Given the description of an element on the screen output the (x, y) to click on. 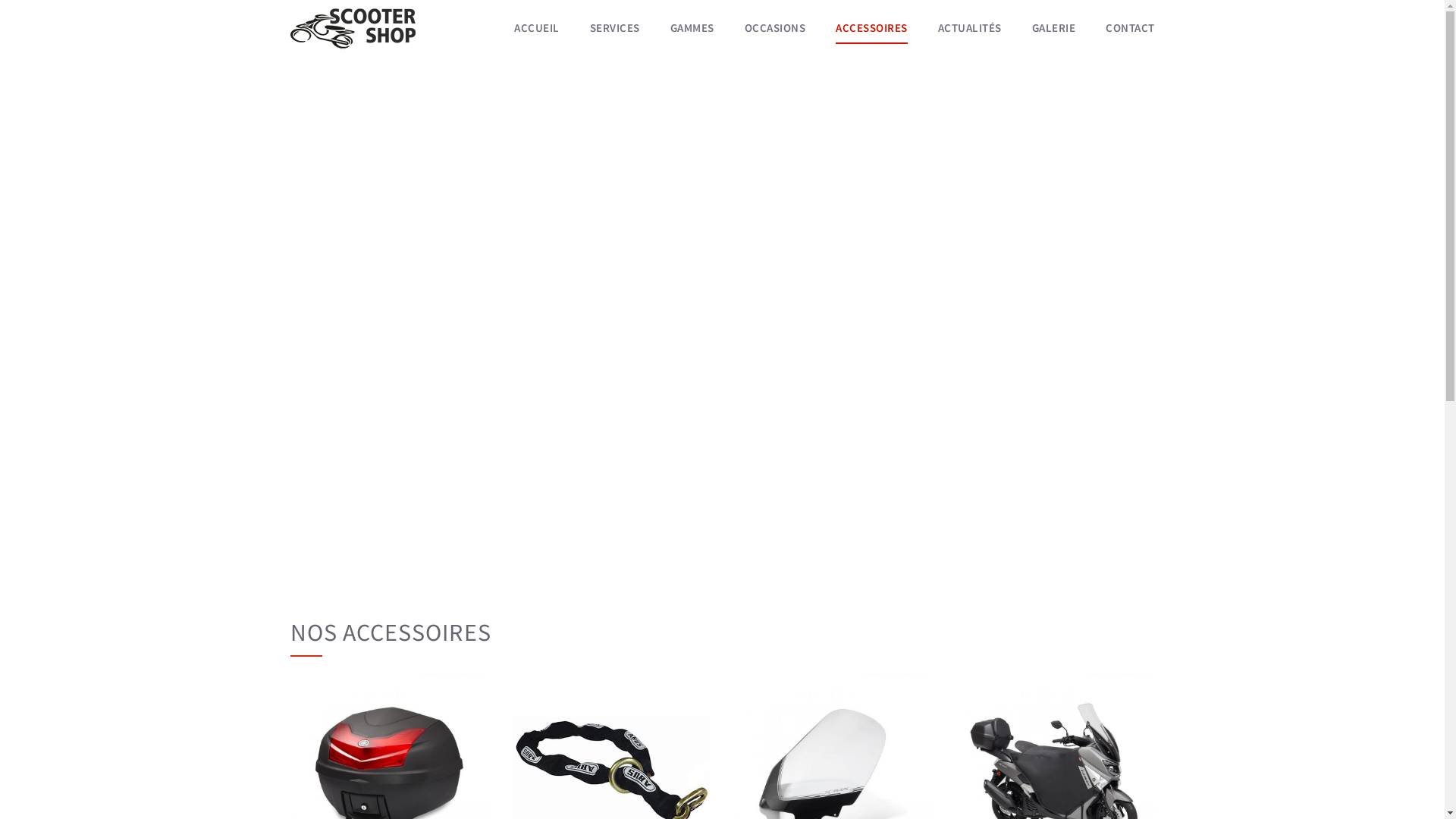
OCCASIONS Element type: text (775, 28)
CONTACT Element type: text (1122, 28)
GAMMES Element type: text (692, 28)
GALERIE Element type: text (1053, 28)
SERVICES Element type: text (614, 28)
ACCESSOIRES Element type: text (871, 28)
ACCUEIL Element type: text (544, 28)
Logo Element type: hover (351, 28)
